Given the description of an element on the screen output the (x, y) to click on. 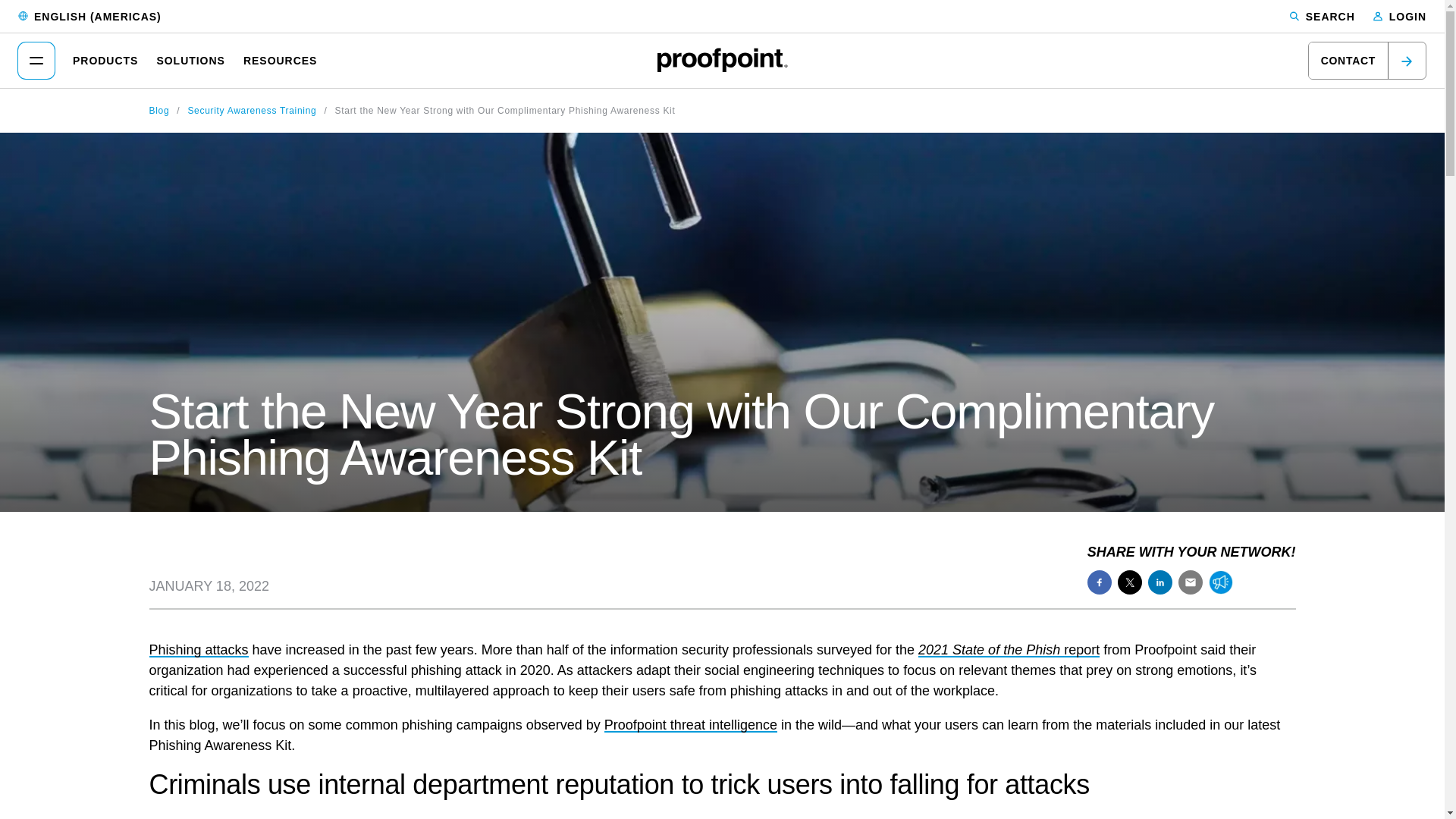
2024 State of the Phish Threat Report (1008, 649)
Proofpoint (721, 59)
CONTACT (1366, 60)
Phishing (197, 649)
ET Intelligence (690, 724)
